Given the description of an element on the screen output the (x, y) to click on. 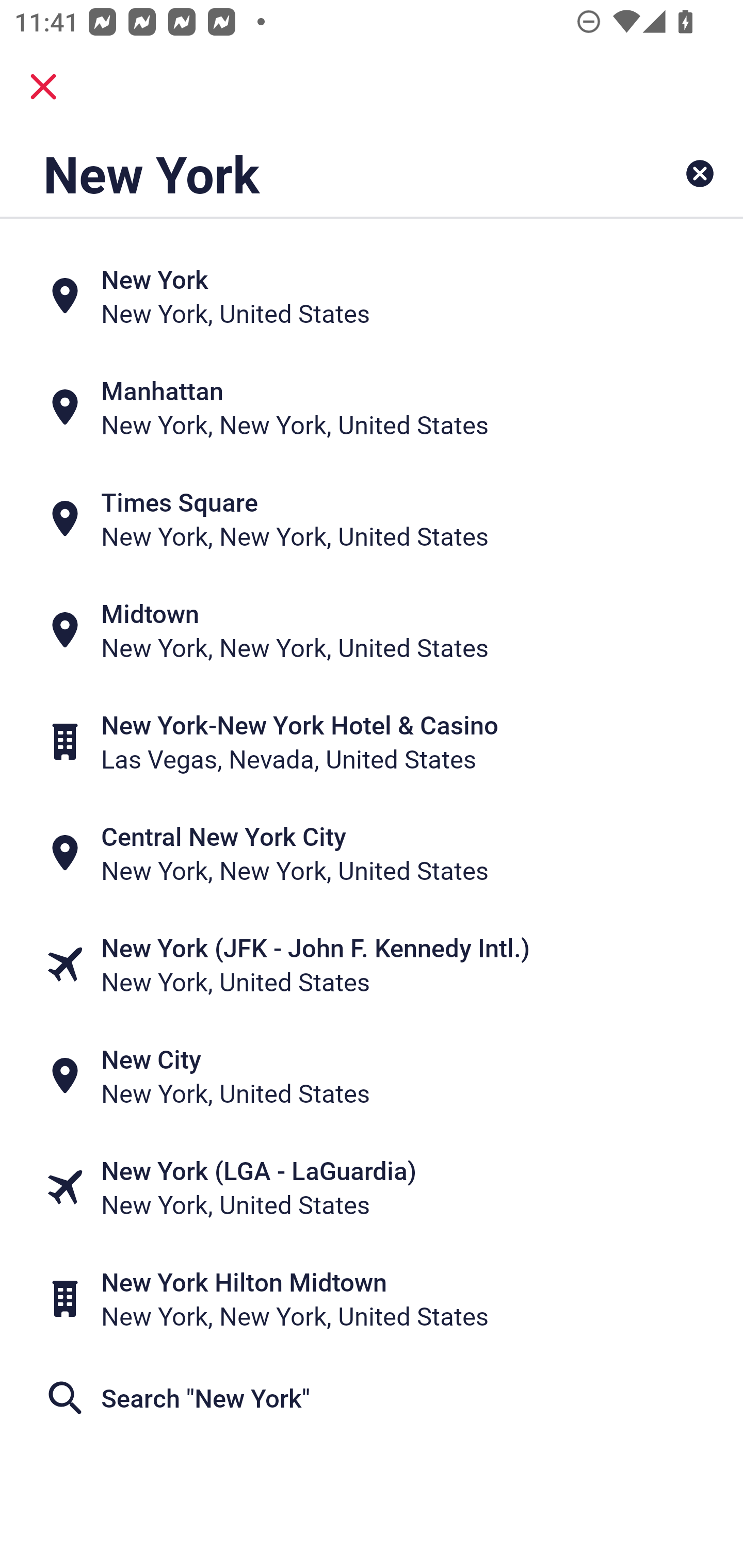
close. (43, 86)
Clear (699, 173)
New York (306, 173)
New York New York, United States (371, 295)
Manhattan New York, New York, United States (371, 406)
Times Square New York, New York, United States (371, 517)
Midtown New York, New York, United States (371, 629)
New City New York, United States (371, 1076)
New York (LGA - LaGuardia) New York, United States (371, 1187)
Search "New York" (371, 1397)
